Given the description of an element on the screen output the (x, y) to click on. 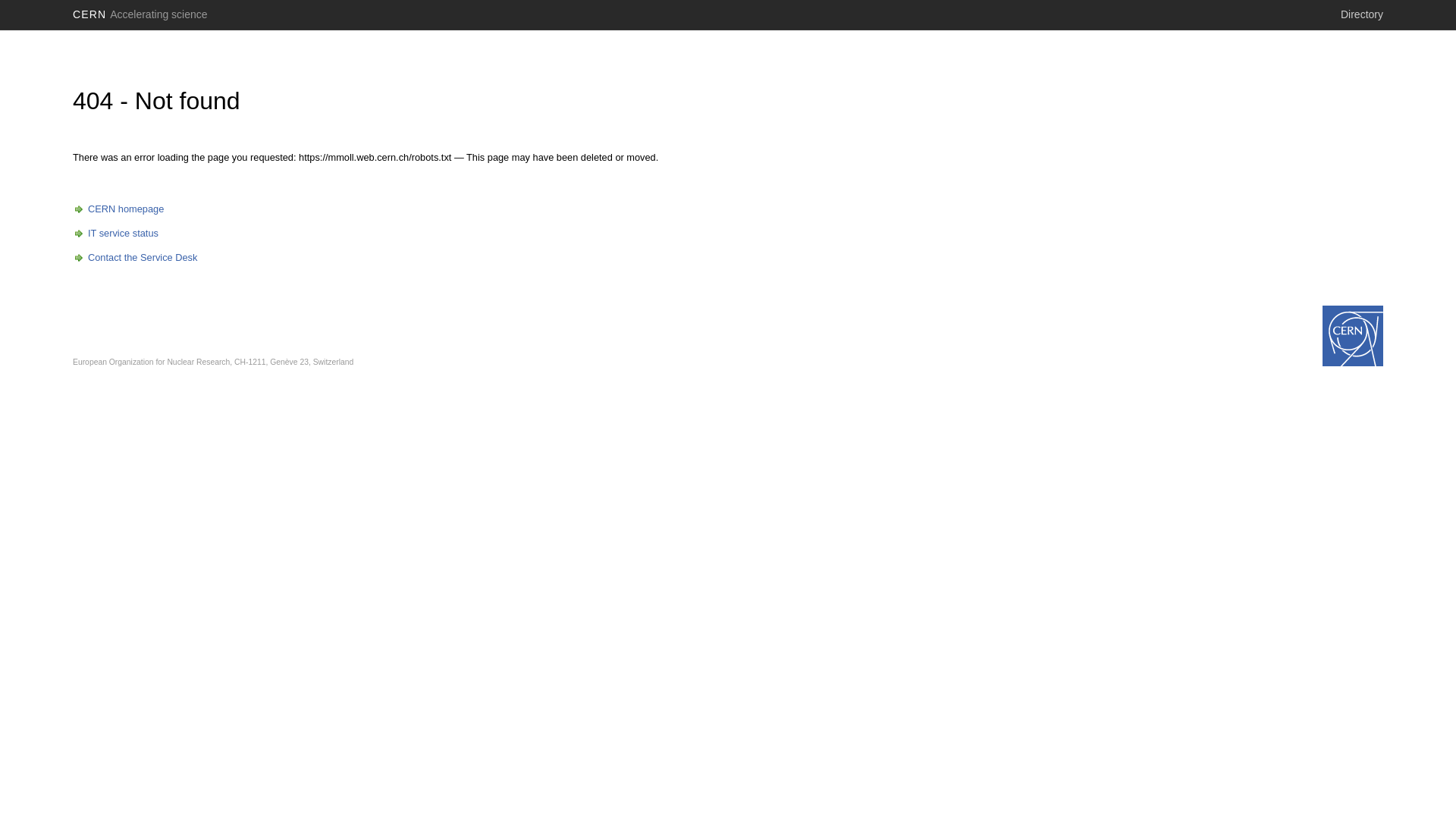
Contact the Service Desk Element type: text (134, 257)
Directory Element type: text (1361, 14)
CERN homepage Element type: text (117, 208)
IT service status Element type: text (115, 232)
CERN Accelerating science Element type: text (139, 14)
www.cern.ch Element type: hover (1352, 335)
